Given the description of an element on the screen output the (x, y) to click on. 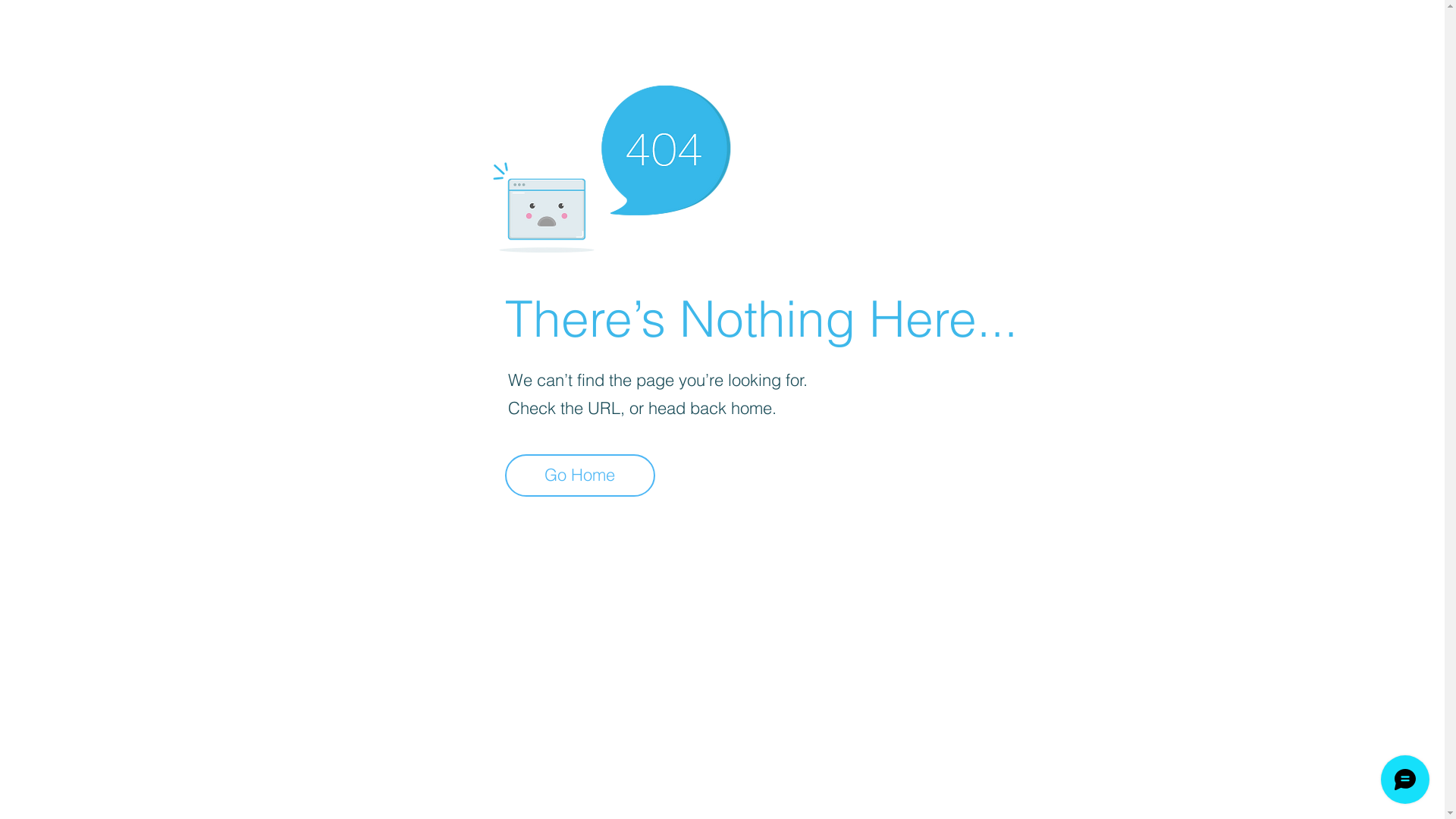
404-icon_2.png Element type: hover (610, 164)
Go Home Element type: text (580, 475)
